Given the description of an element on the screen output the (x, y) to click on. 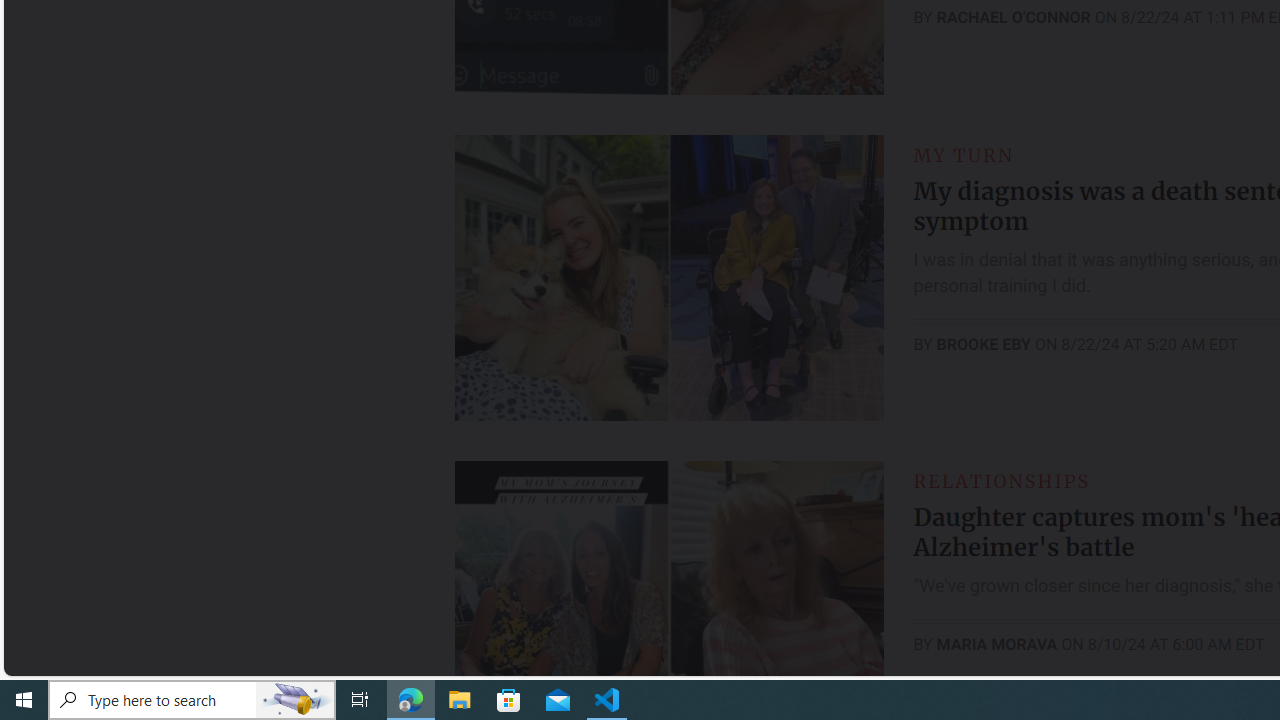
RELATIONSHIPS (1001, 480)
MY TURN (963, 155)
